Given the description of an element on the screen output the (x, y) to click on. 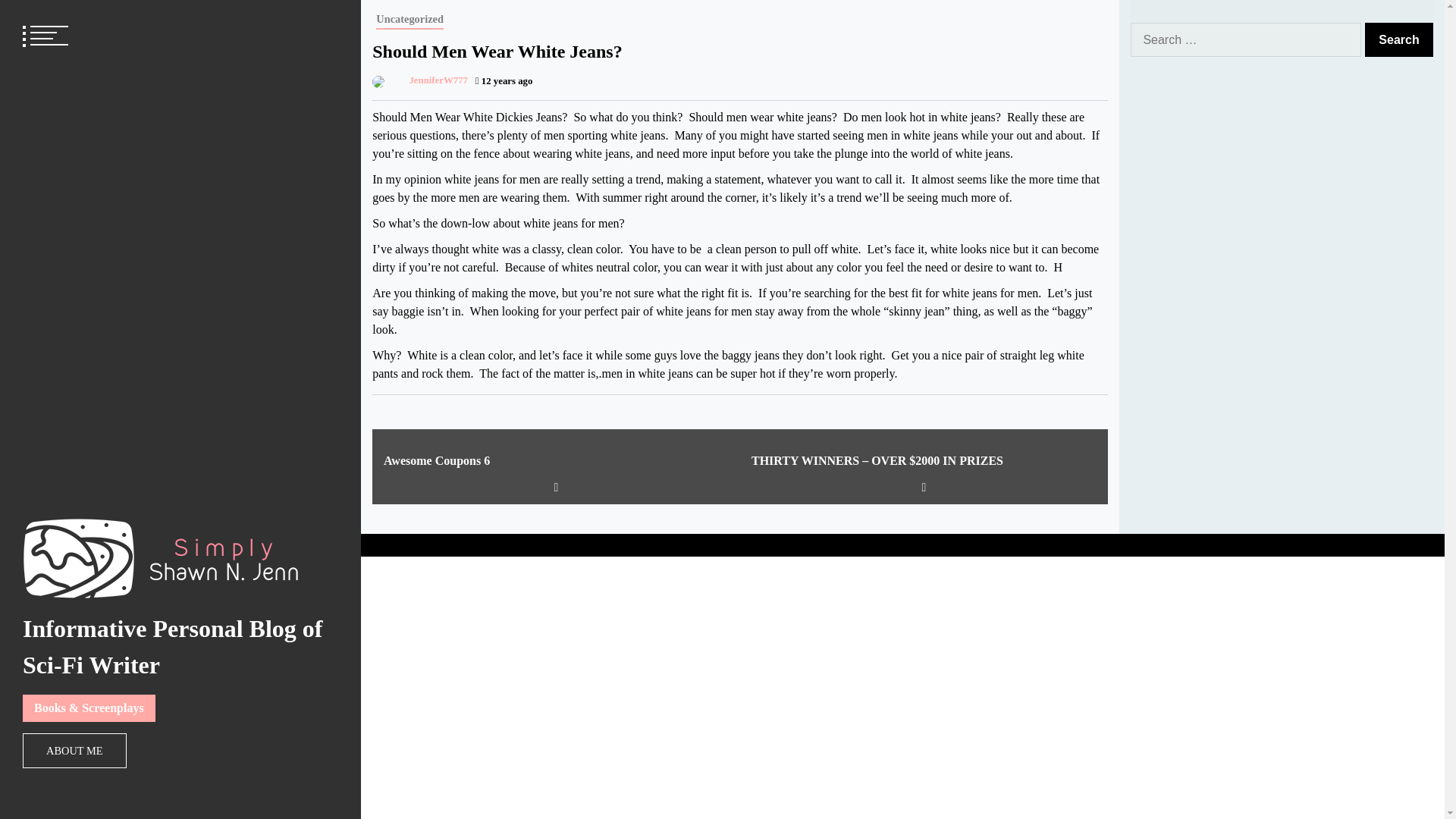
Search (1398, 39)
JenniferW777 (419, 80)
Awesome Coupons 6 (556, 461)
Search (1398, 39)
Uncategorized (409, 19)
Search (1398, 39)
